Given the description of an element on the screen output the (x, y) to click on. 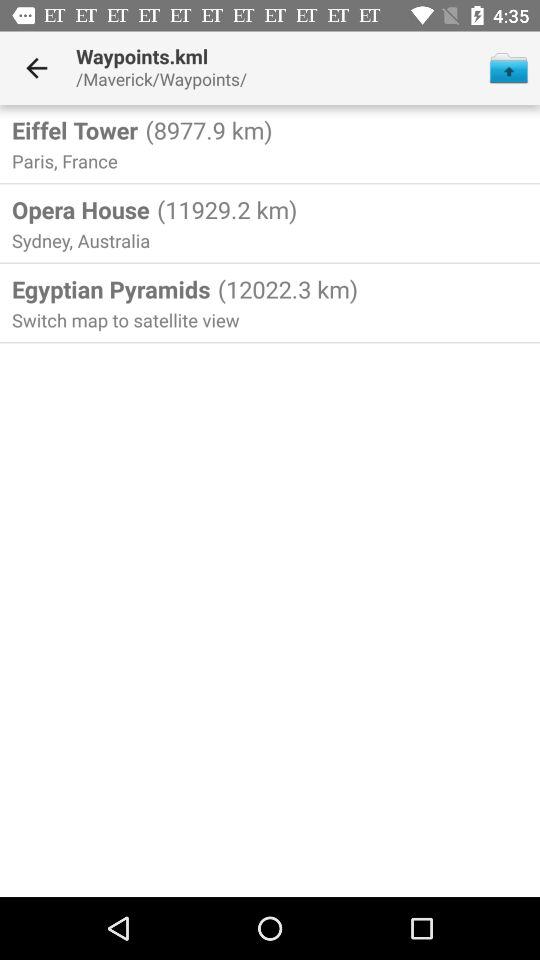
launch paris, france  icon (67, 160)
